Given the description of an element on the screen output the (x, y) to click on. 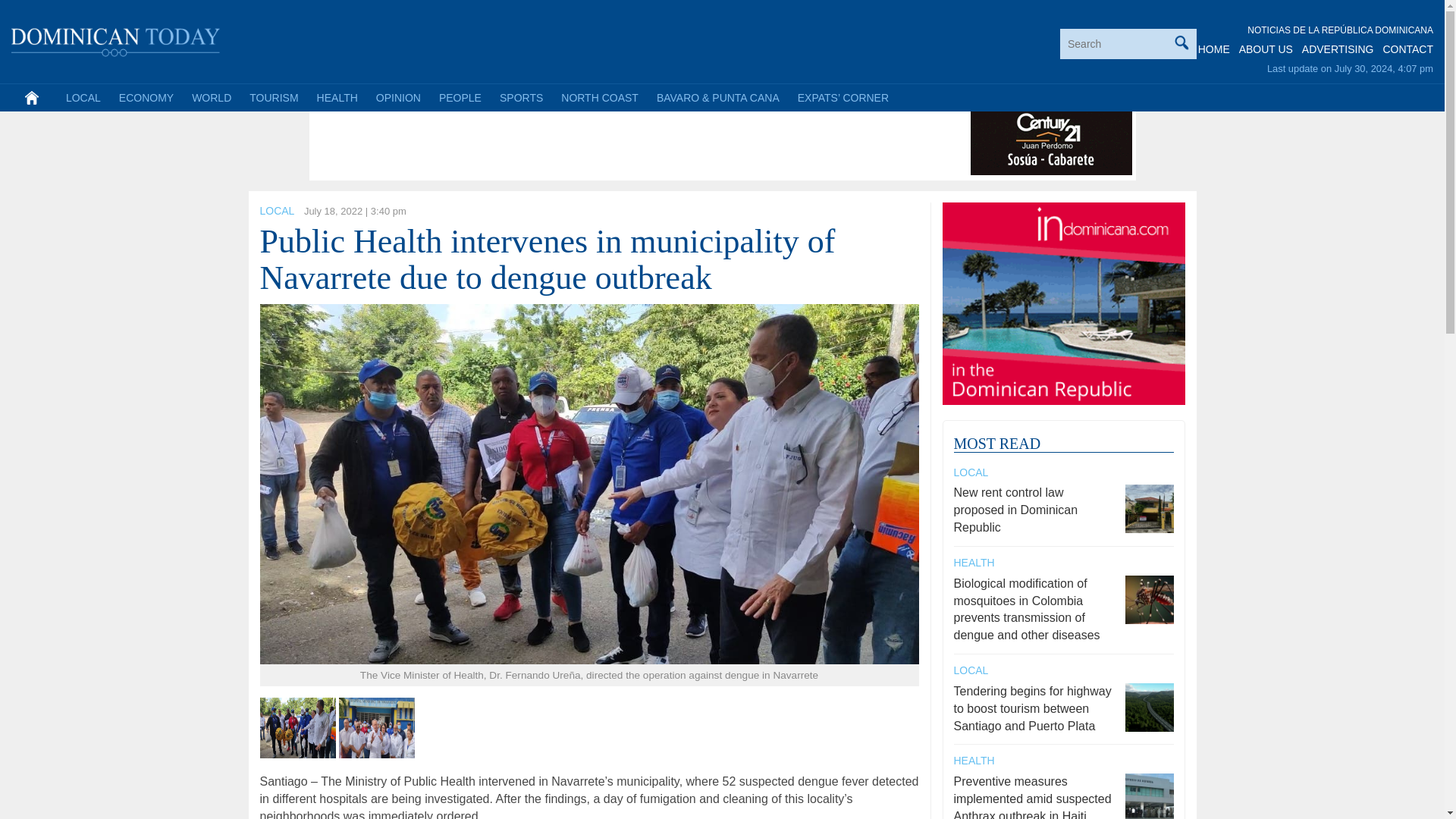
HOME (1214, 49)
ABOUT US (1265, 49)
OPINION (397, 97)
HEALTH (336, 97)
SPORTS (520, 97)
Dominican Today News - Santo Domingo and Dominican Republic (116, 38)
WORLD (211, 97)
CONTACT (1406, 49)
NORTH COAST (599, 97)
LOCAL (276, 210)
ECONOMY (146, 97)
LOCAL (83, 97)
PEOPLE (459, 97)
TOURISM (273, 97)
